Given the description of an element on the screen output the (x, y) to click on. 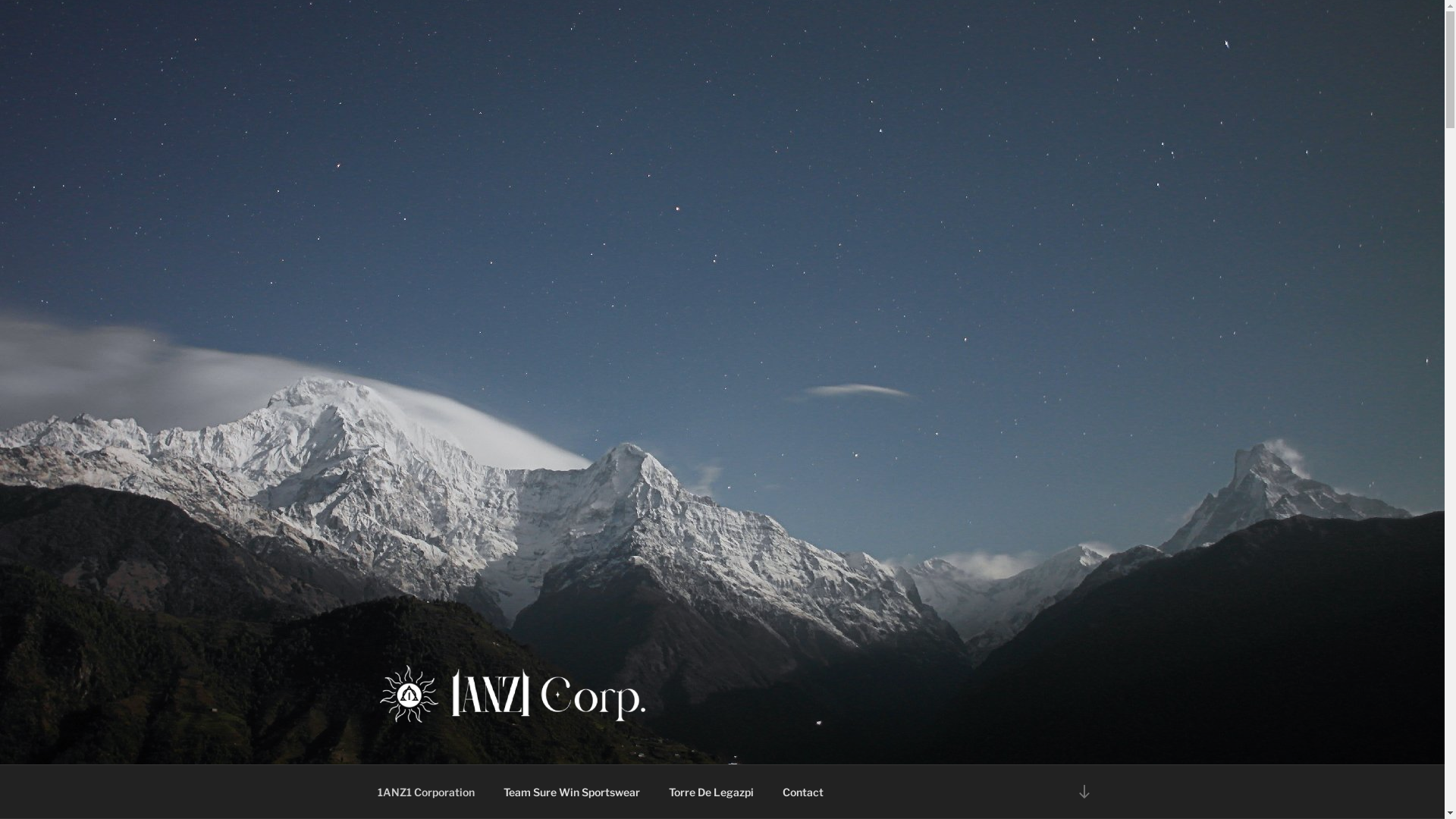
Scroll down to content Element type: text (1083, 790)
1ANZ1 CORPORATION Element type: text (549, 744)
Contact Element type: text (802, 791)
Team Sure Win Sportswear Element type: text (570, 791)
1ANZ1 Corporation Element type: text (425, 791)
Torre De Legazpi Element type: text (710, 791)
